Given the description of an element on the screen output the (x, y) to click on. 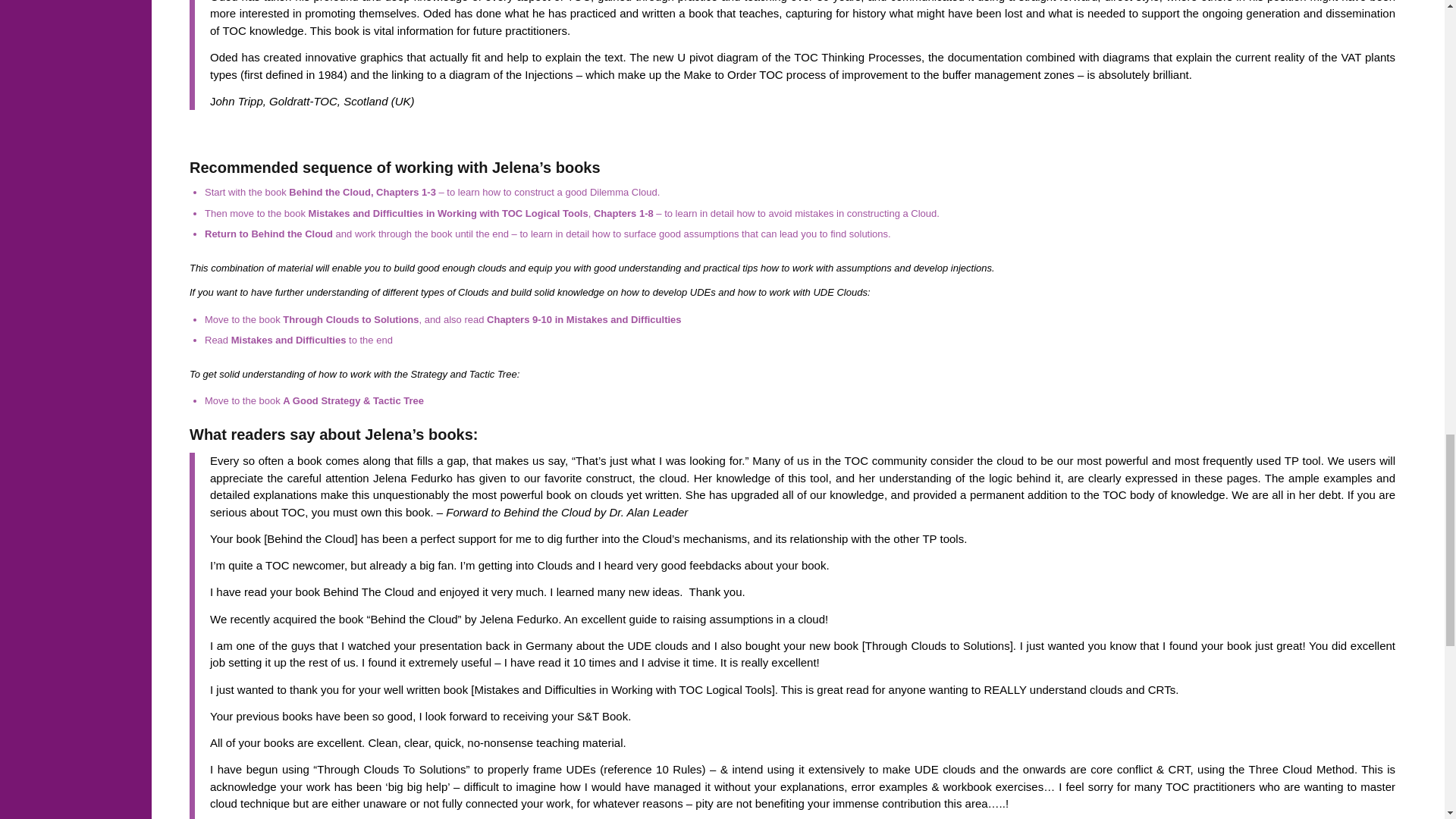
Mistakes and Difficulties in Working with TOC Logical Tools (448, 213)
Through Clouds to Solutions (350, 319)
Mistakes and Difficulties (288, 339)
Mistakes and Difficulties (623, 319)
Behind the Cloud (329, 192)
Behind the Cloud (291, 233)
